Given the description of an element on the screen output the (x, y) to click on. 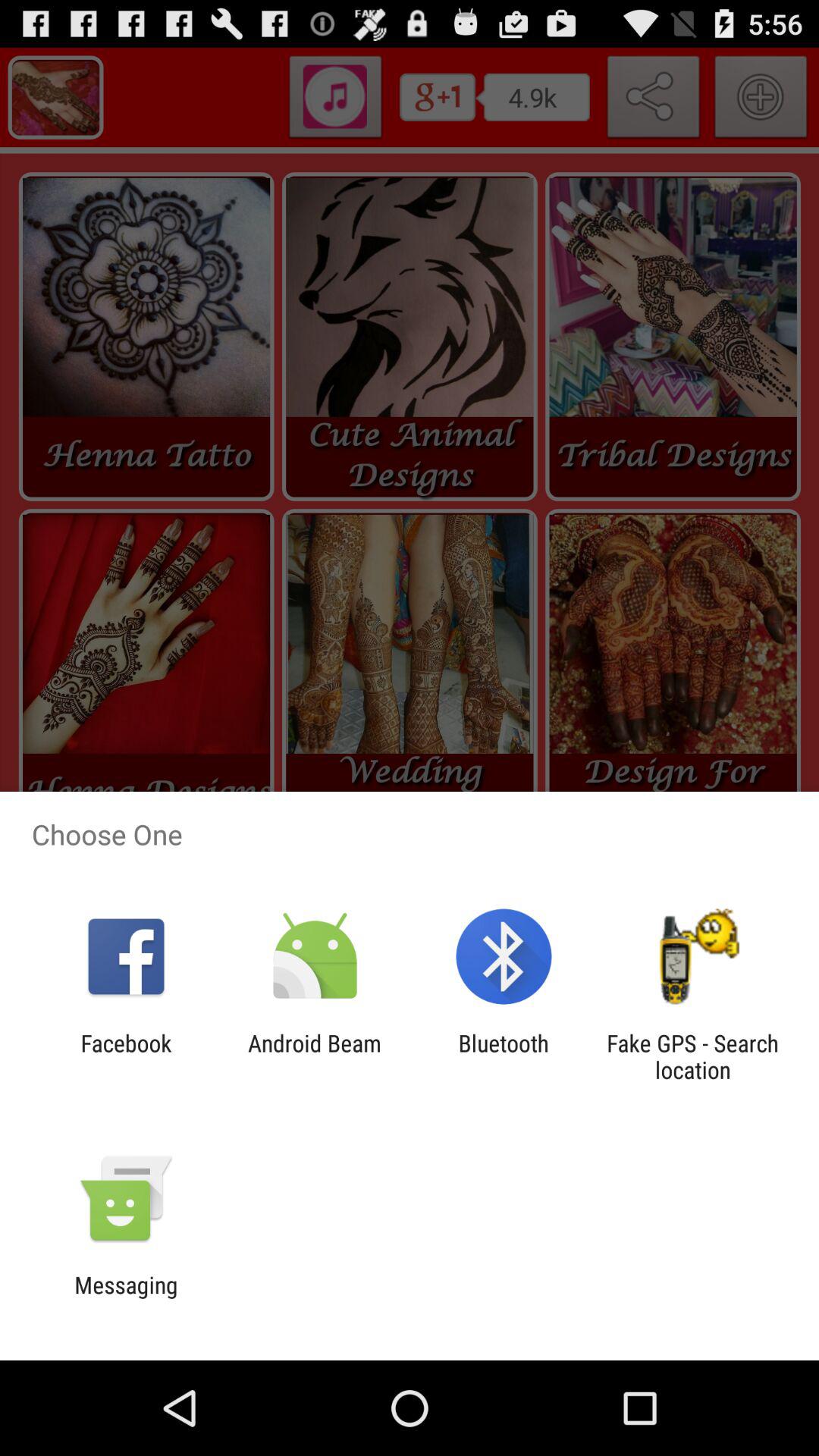
choose item next to android beam item (125, 1056)
